Given the description of an element on the screen output the (x, y) to click on. 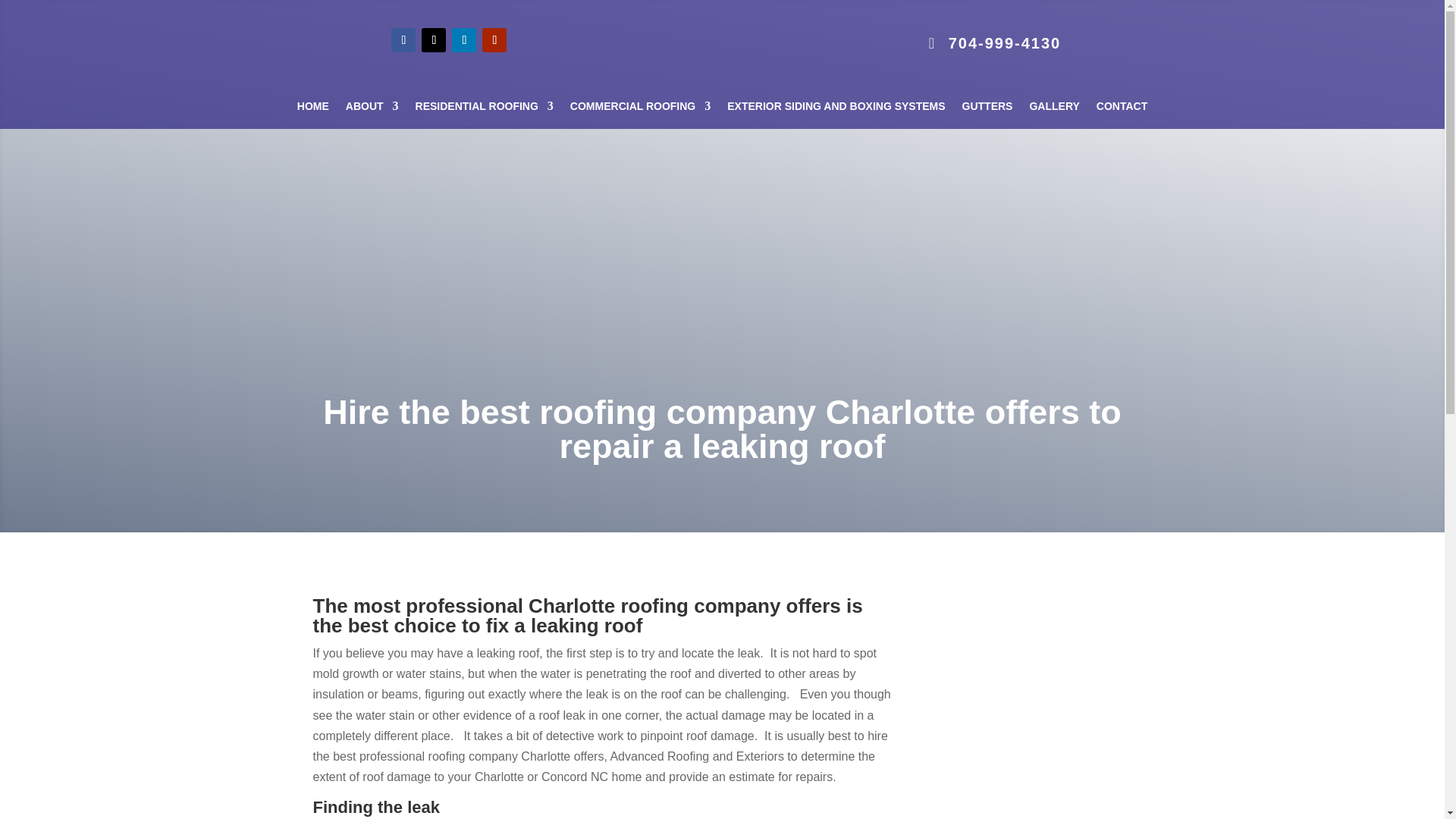
COMMERCIAL ROOFING (640, 108)
Follow on Facebook (402, 39)
ABOUT (372, 108)
GUTTERS (987, 108)
Follow on LinkedIn (463, 39)
704-999-4130 (995, 42)
Roofing company - Charlotte, NC (1017, 681)
GALLERY (1053, 108)
Follow on Youtube (493, 39)
EXTERIOR SIDING AND BOXING SYSTEMS (835, 108)
